Given the description of an element on the screen output the (x, y) to click on. 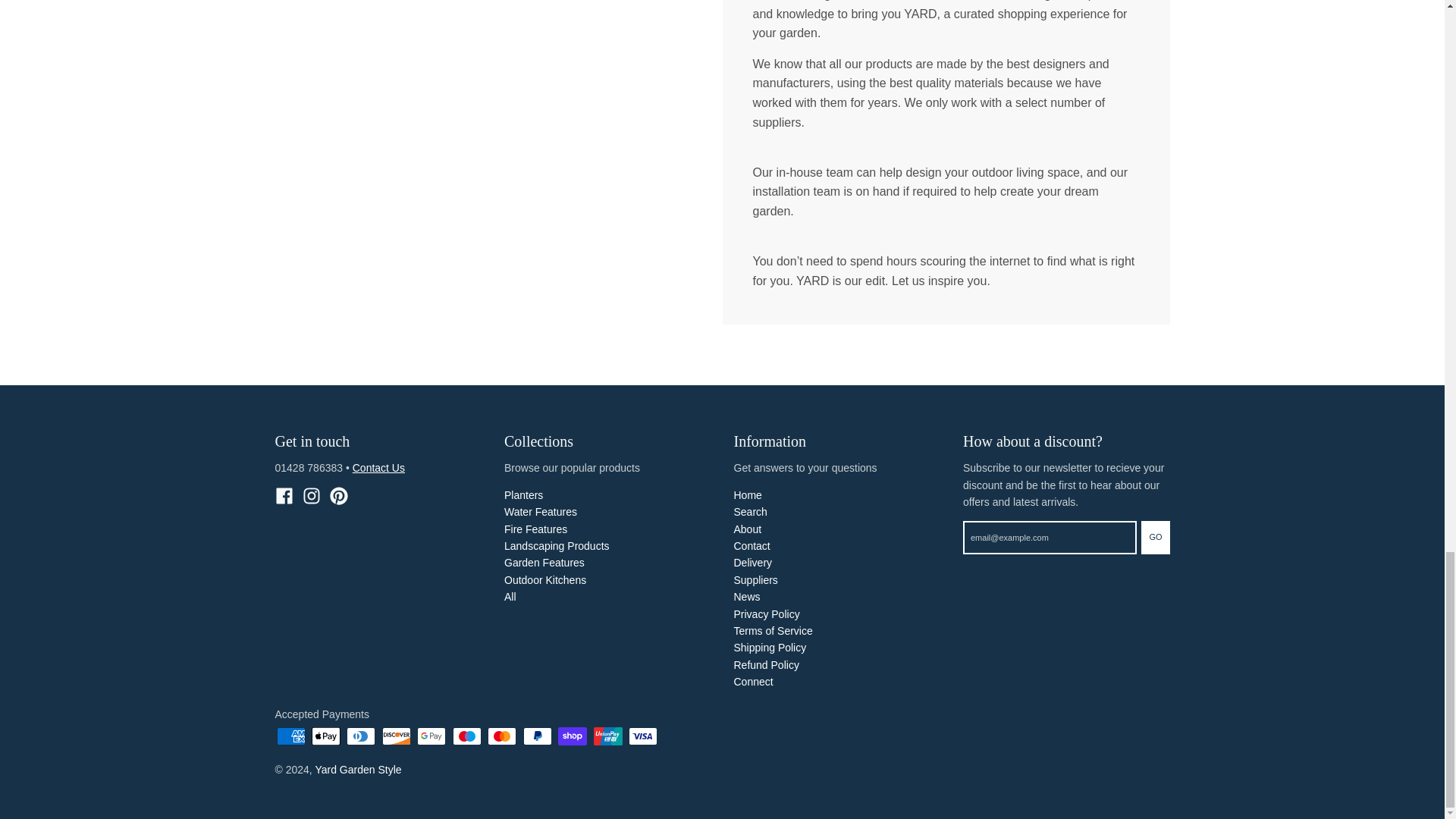
Facebook - Yard Garden Style (283, 495)
Pinterest - Yard Garden Style (338, 495)
Instagram - Yard Garden Style (310, 495)
